Given the description of an element on the screen output the (x, y) to click on. 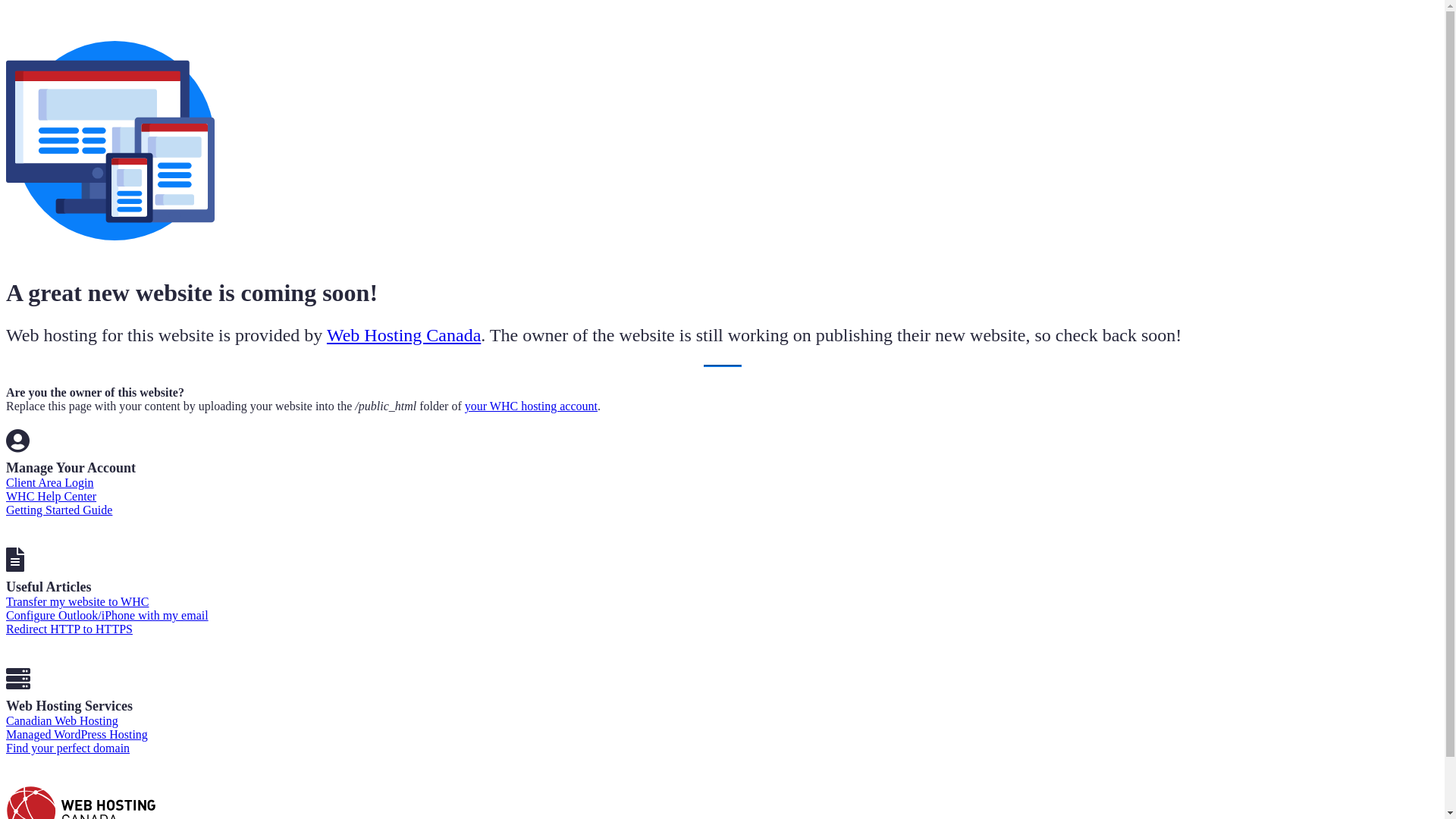
Web Hosting Canada Element type: text (403, 335)
Redirect HTTP to HTTPS Element type: text (69, 628)
Canadian Web Hosting Element type: text (62, 720)
Client Area Login Element type: text (50, 482)
Find your perfect domain Element type: text (67, 747)
Configure Outlook/iPhone with my email Element type: text (107, 614)
Transfer my website to WHC Element type: text (77, 601)
WHC Help Center Element type: text (51, 495)
Managed WordPress Hosting Element type: text (76, 734)
your WHC hosting account Element type: text (530, 405)
Getting Started Guide Element type: text (59, 509)
